Given the description of an element on the screen output the (x, y) to click on. 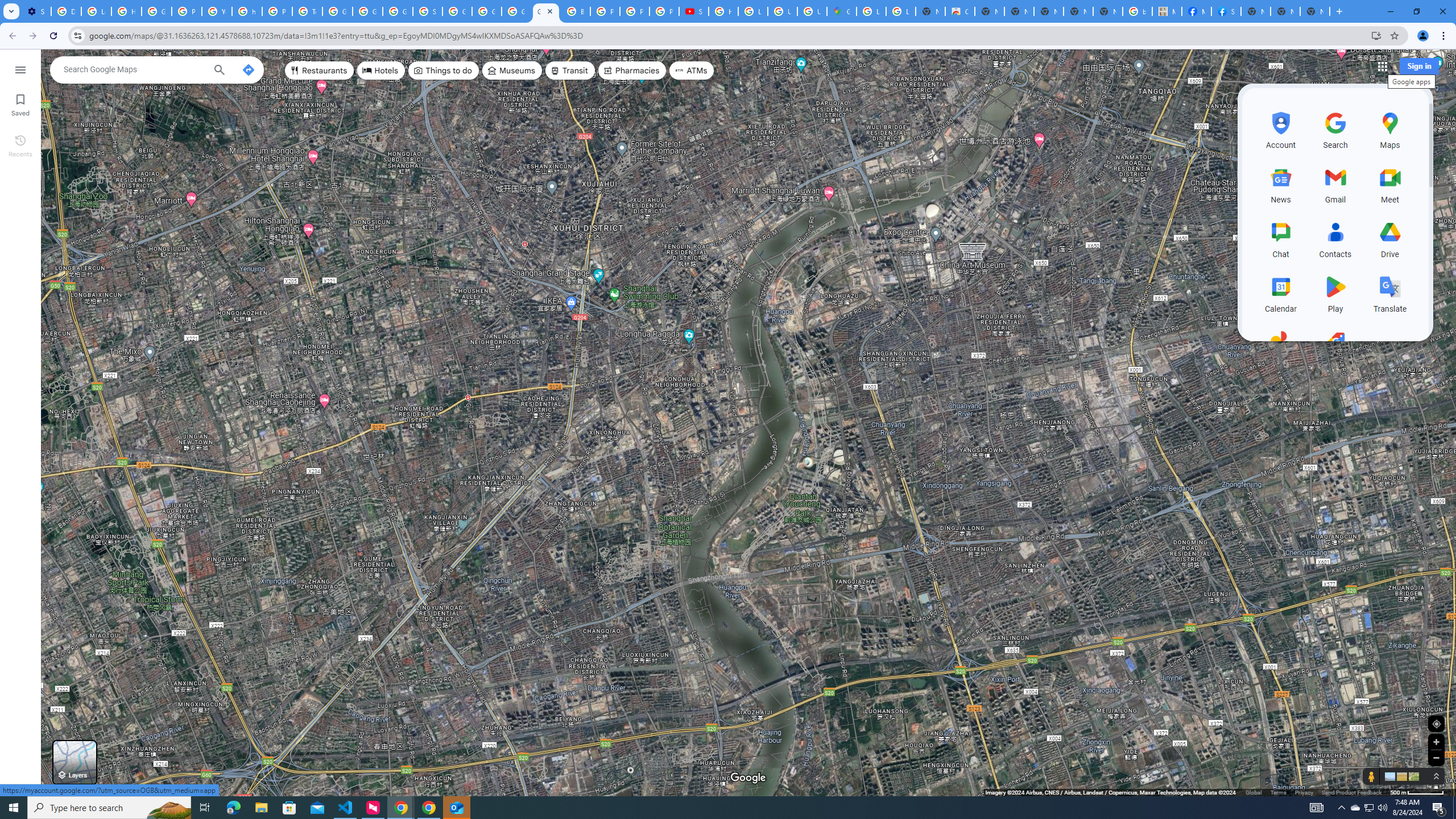
Privacy Help Center - Policies Help (634, 11)
Install Google Maps (1376, 35)
Google Maps (545, 11)
Global (1253, 792)
ATMs (691, 70)
Transit (569, 70)
Delete photos & videos - Computer - Google Photos Help (65, 11)
